Given the description of an element on the screen output the (x, y) to click on. 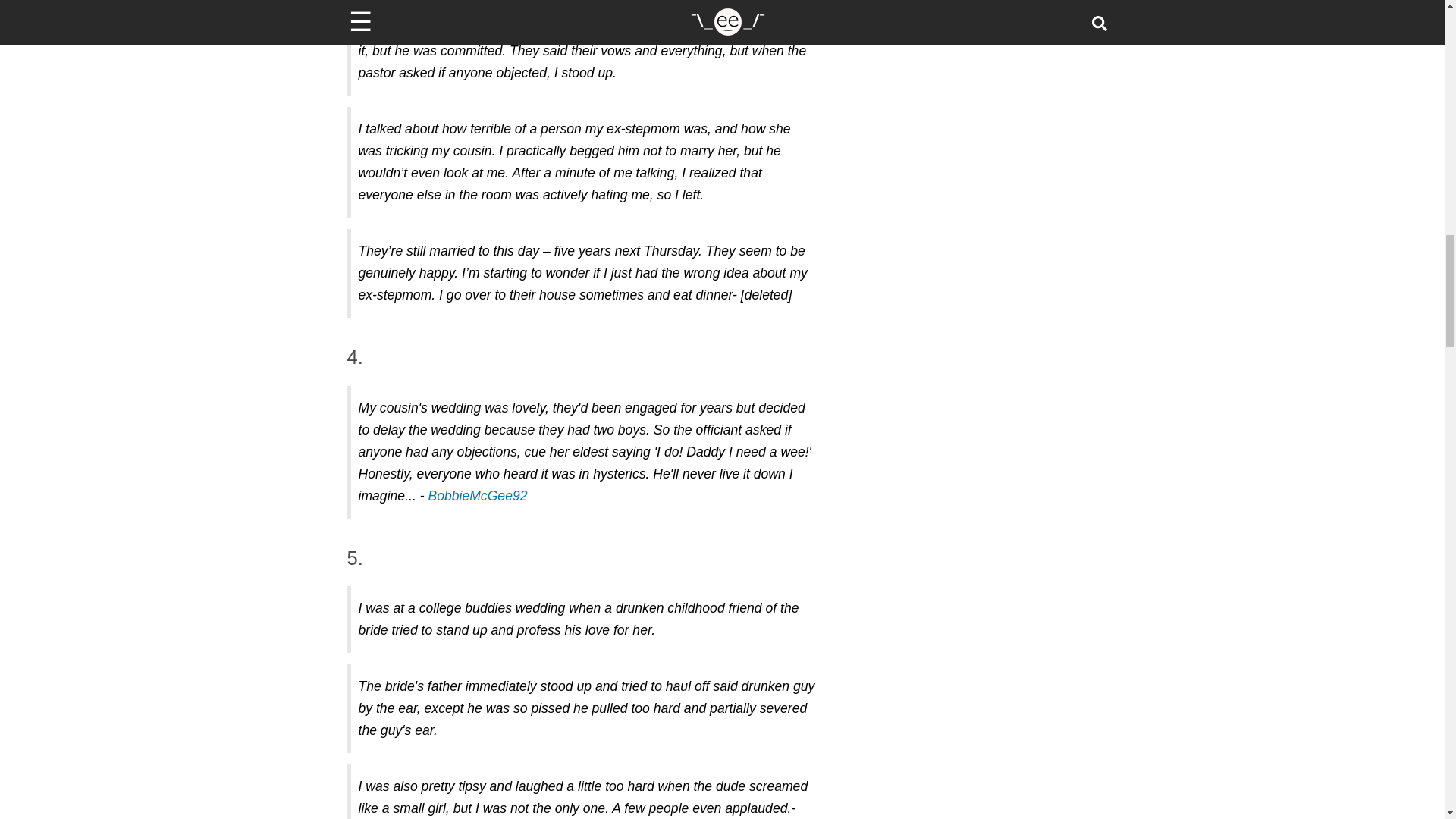
BobbieMcGee92 (477, 495)
